Given the description of an element on the screen output the (x, y) to click on. 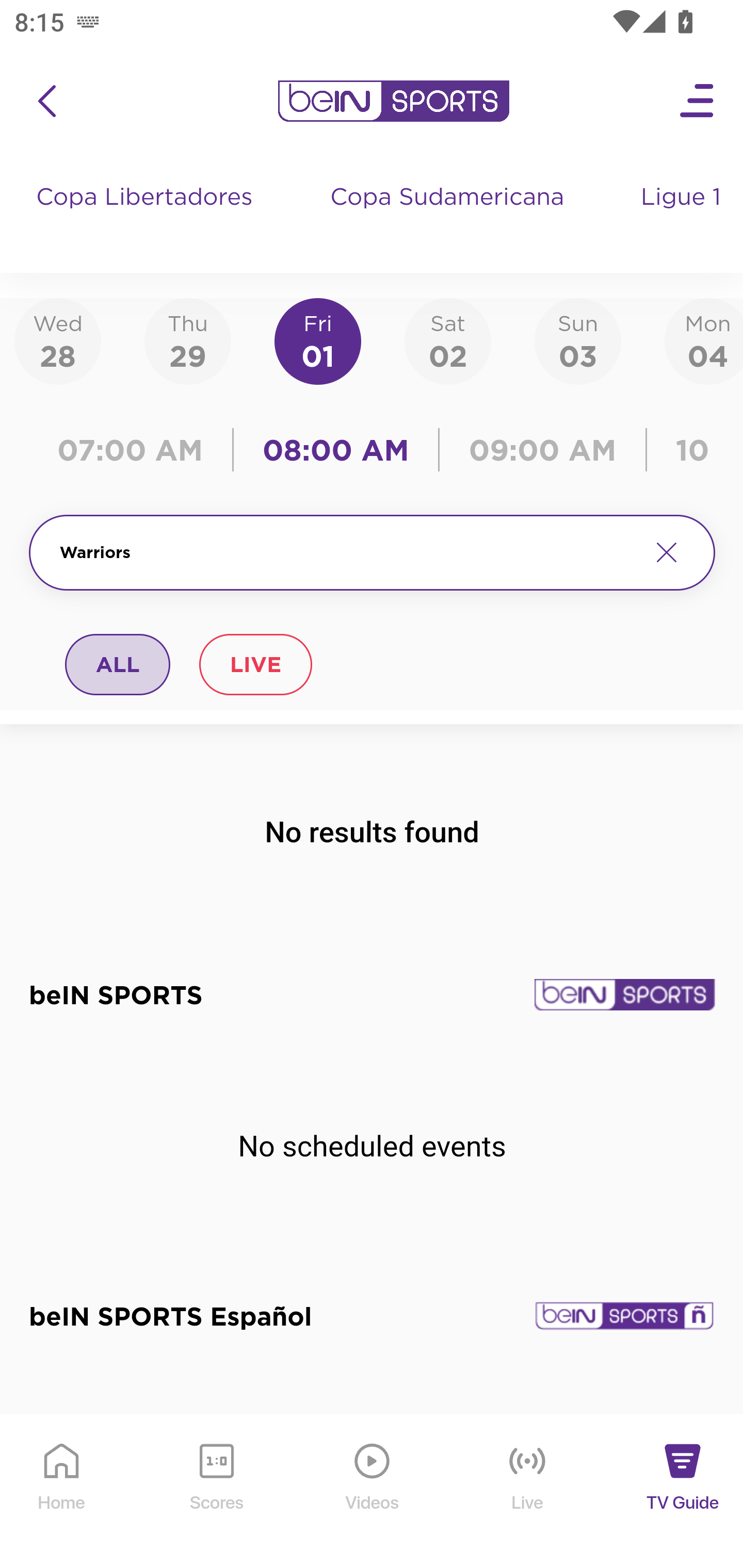
en-us?platform=mobile_android bein logo (392, 101)
icon back (46, 101)
Open Menu Icon (697, 101)
Copa Libertadores (146, 216)
Copa Sudamericana (448, 216)
Ligue 1 (682, 216)
Wed28 (58, 340)
Thu29 (187, 340)
Fri01 (318, 340)
Sat02 (447, 340)
Sun03 (578, 340)
Mon04 (703, 340)
07:00 AM (135, 449)
08:00 AM (336, 449)
09:00 AM (542, 449)
Warriors (346, 552)
ALL (118, 663)
LIVE (255, 663)
Home Home Icon Home (61, 1491)
Scores Scores Icon Scores (216, 1491)
Videos Videos Icon Videos (372, 1491)
TV Guide TV Guide Icon TV Guide (682, 1491)
